Given the description of an element on the screen output the (x, y) to click on. 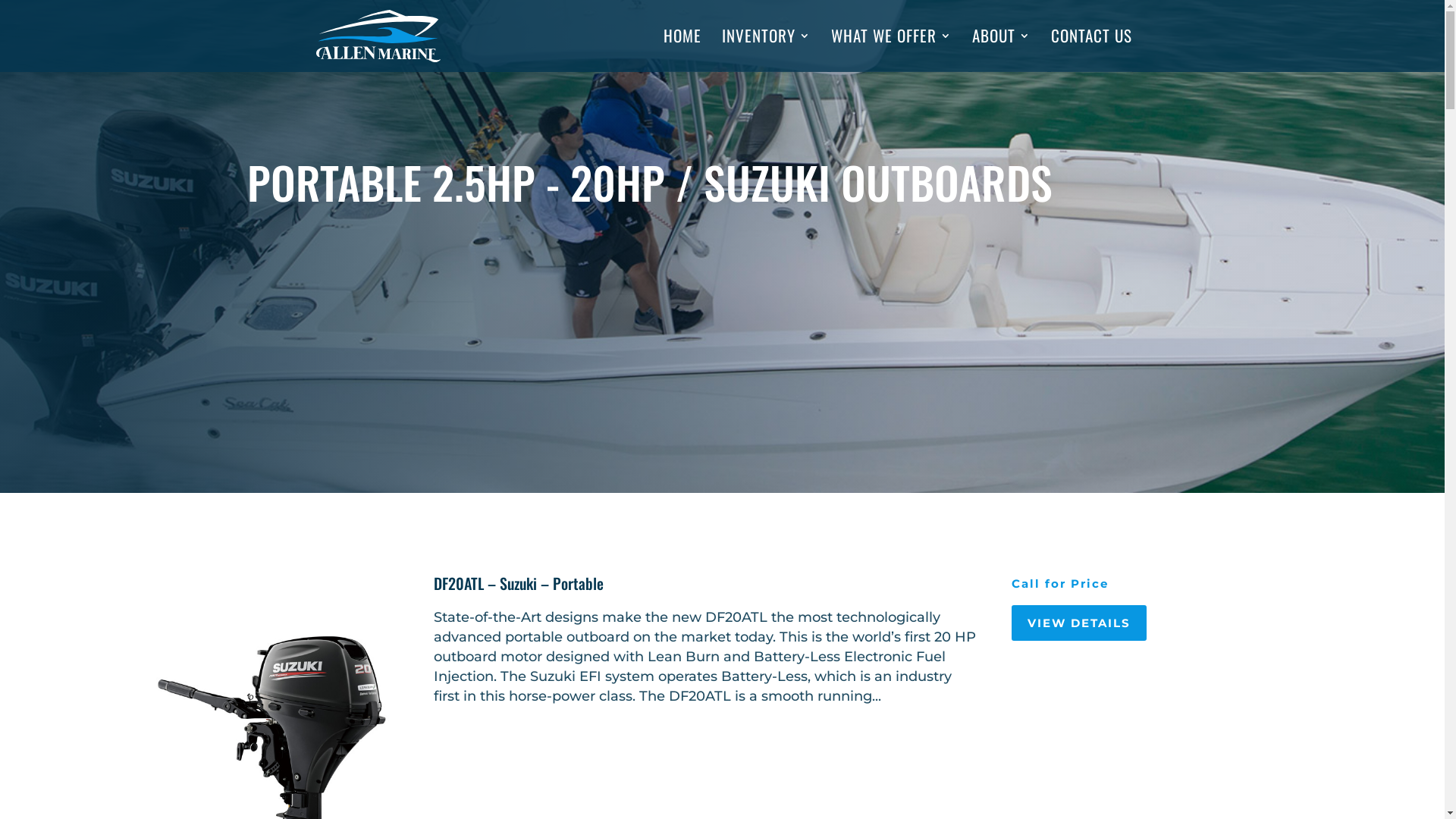
ABOUT Element type: text (1001, 50)
WHAT WE OFFER Element type: text (891, 50)
INVENTORY Element type: text (765, 50)
CONTACT US Element type: text (1091, 50)
HOME Element type: text (681, 50)
VIEW DETAILS Element type: text (1078, 622)
